Given the description of an element on the screen output the (x, y) to click on. 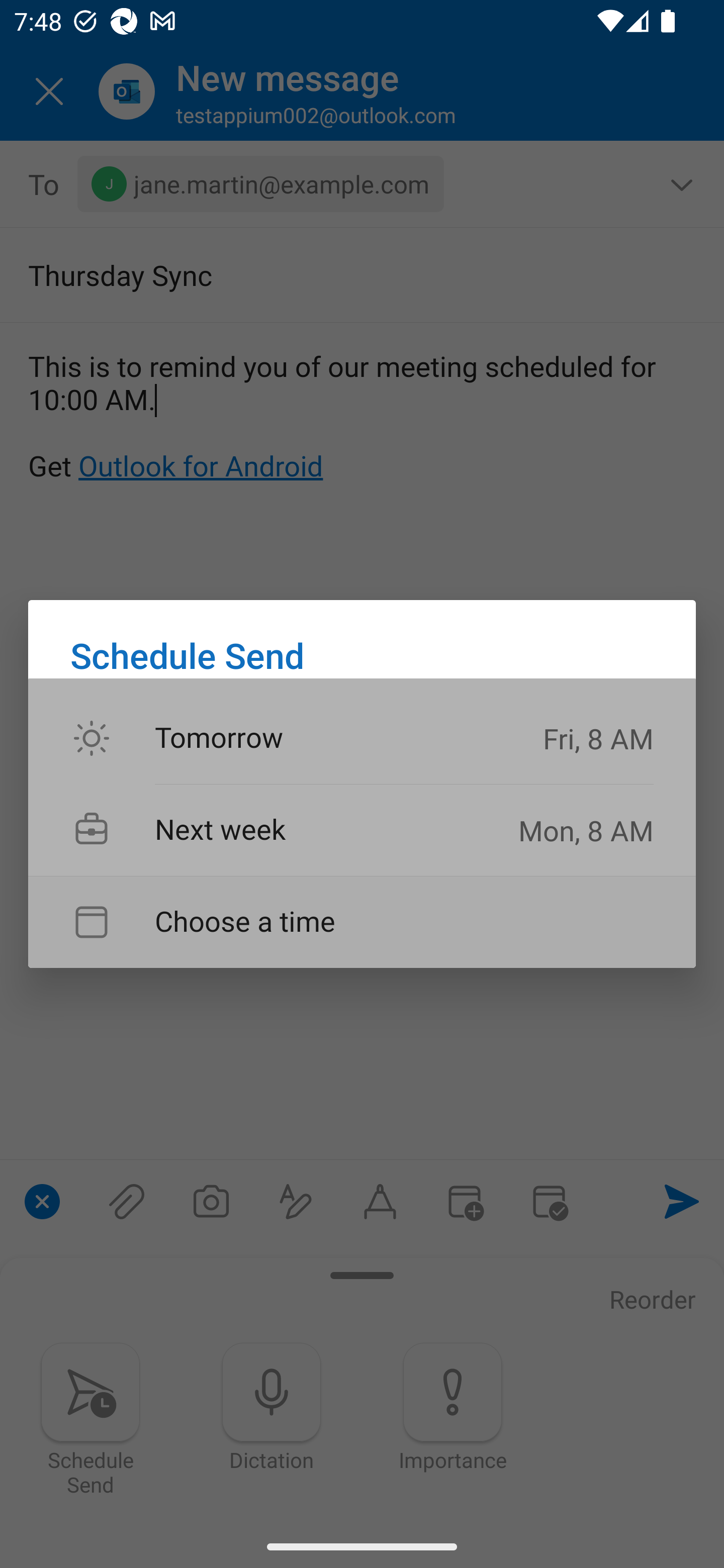
Option 1 Tomorrow Fri, 8 AM (361, 738)
Option 2 Next week Mon, 8 AM (361, 830)
Choose a time (361, 921)
